Given the description of an element on the screen output the (x, y) to click on. 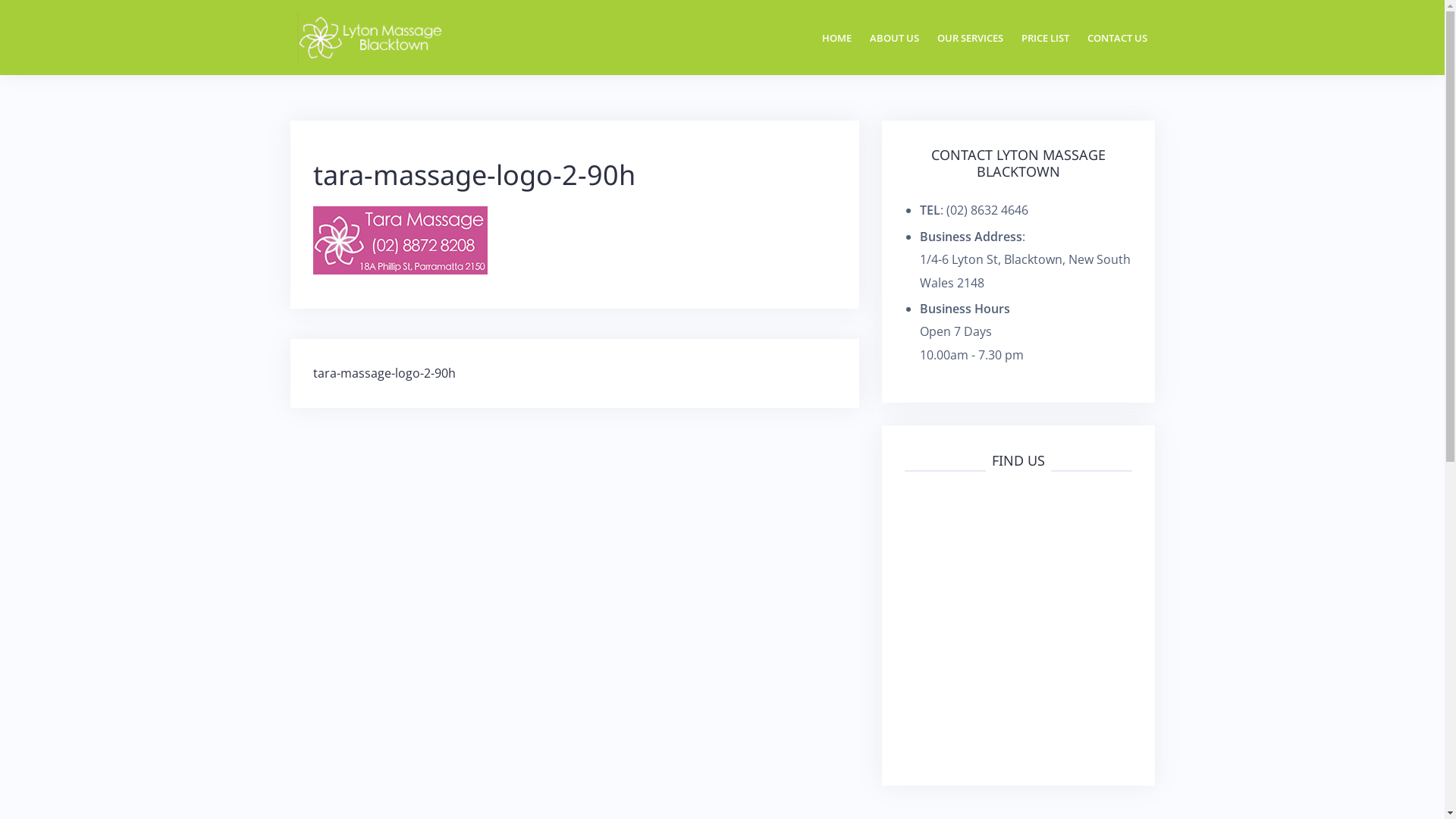
ABOUT US Element type: text (893, 37)
HOME Element type: text (836, 37)
1/4-6 Lyton St, Blacktown, New South Wales 2148 Element type: text (1024, 270)
CONTACT US Element type: text (1117, 37)
OUR SERVICES Element type: text (970, 37)
tara-massage-logo-2-90h Element type: text (383, 372)
PRICE LIST Element type: text (1044, 37)
(02) 8632 4646 Element type: text (987, 209)
